Given the description of an element on the screen output the (x, y) to click on. 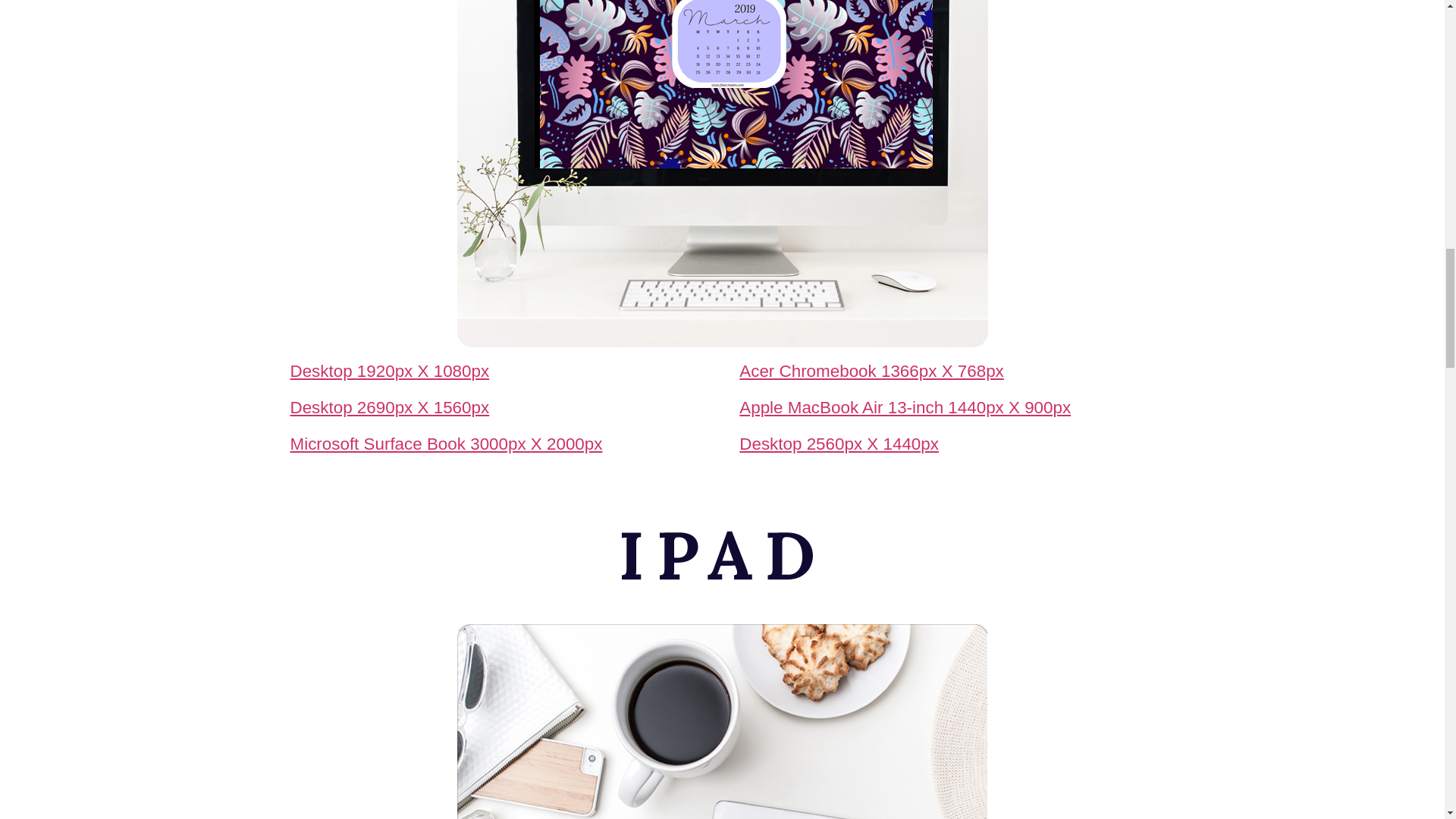
Desktop 2560px X 1440px (839, 443)
Apple MacBook Air 13-inch 1440px X 900px (904, 407)
Microsoft Surface Book 3000px X 2000px (445, 443)
Acer Chromebook 1366px X 768px (871, 370)
Desktop 1920px X 1080px (389, 370)
Desktop 2690px X 1560px (389, 407)
